Given the description of an element on the screen output the (x, y) to click on. 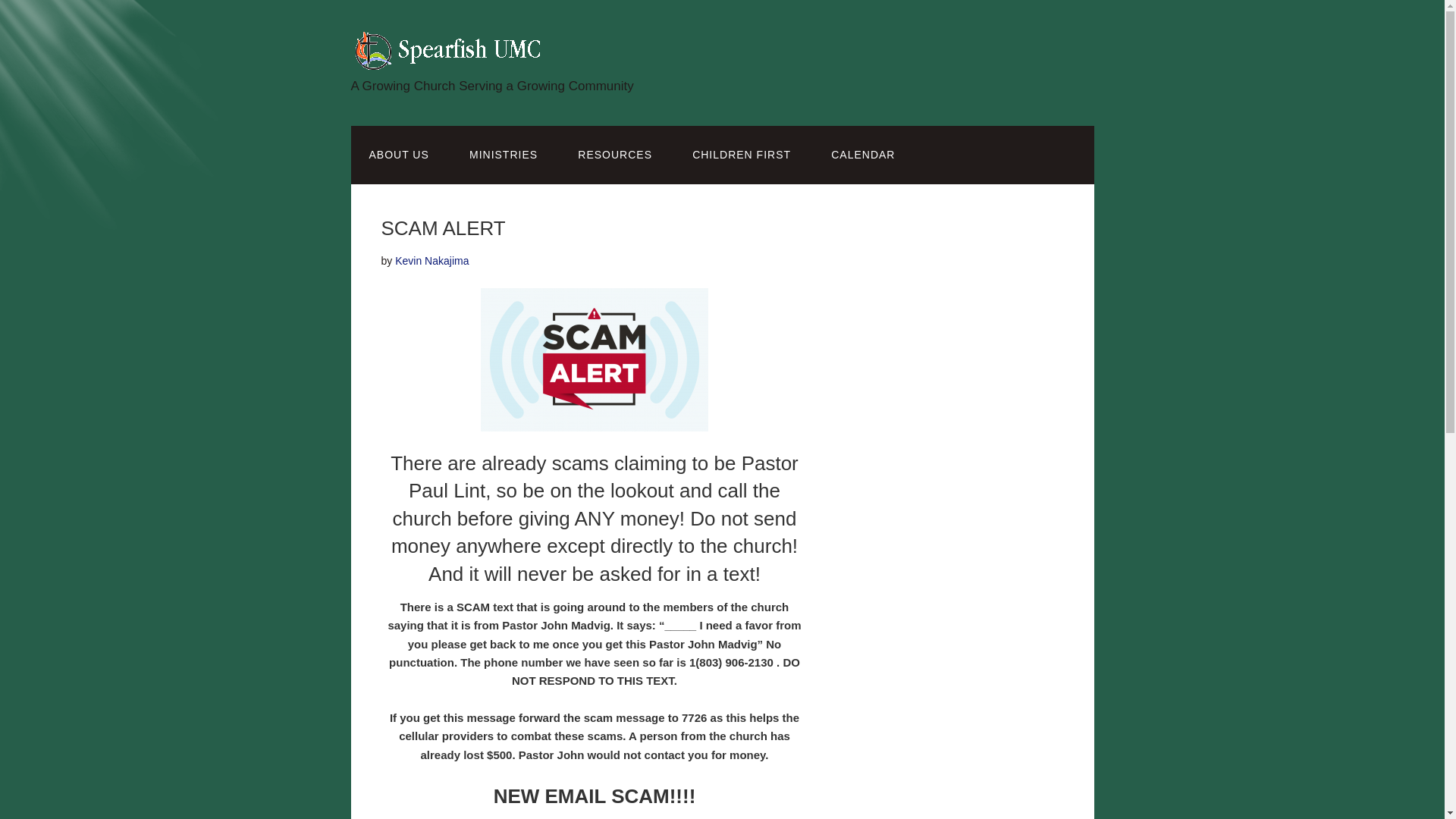
Posts by Kevin Nakajima (431, 260)
CHILDREN FIRST (741, 155)
RESOURCES (614, 155)
CALENDAR (862, 155)
MINISTRIES (503, 155)
Spearfish UMC (448, 59)
ABOUT US (398, 155)
Kevin Nakajima (431, 260)
